Given the description of an element on the screen output the (x, y) to click on. 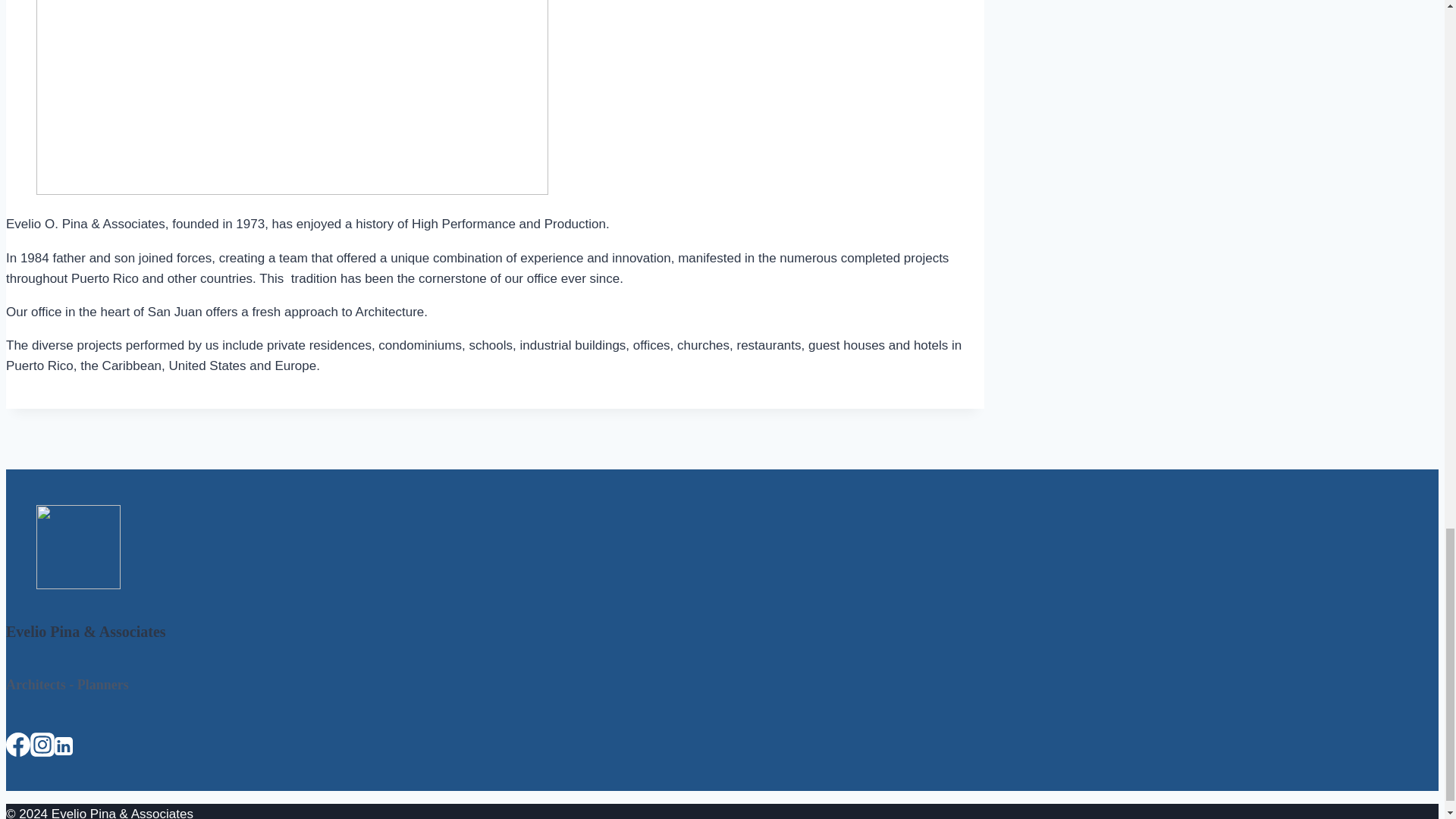
Instagram (42, 744)
Instagram (42, 747)
Linkedin (63, 745)
Facebook (17, 747)
Linkedin (63, 747)
Facebook (17, 744)
